Given the description of an element on the screen output the (x, y) to click on. 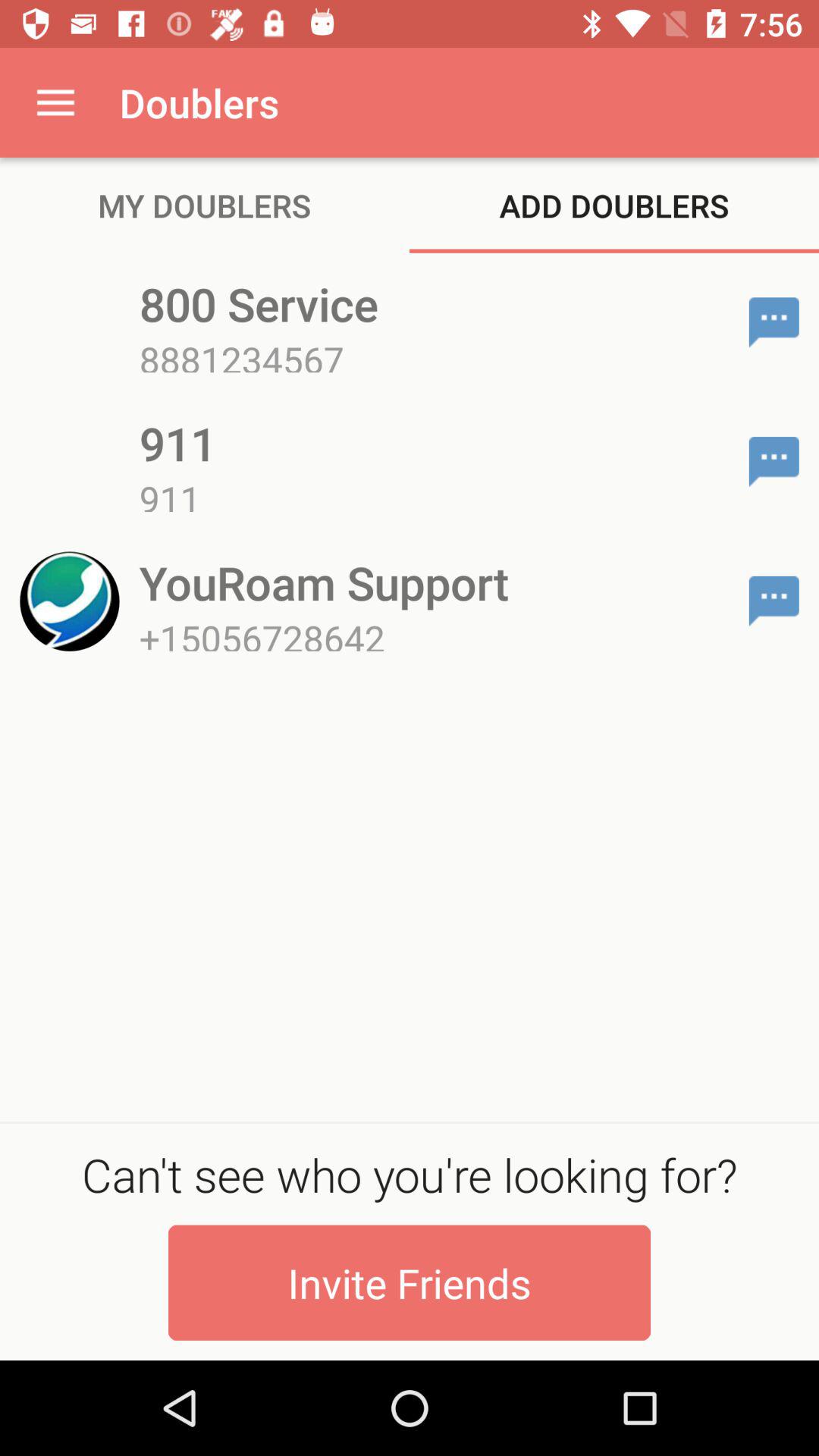
choose item on the right (774, 601)
